Given the description of an element on the screen output the (x, y) to click on. 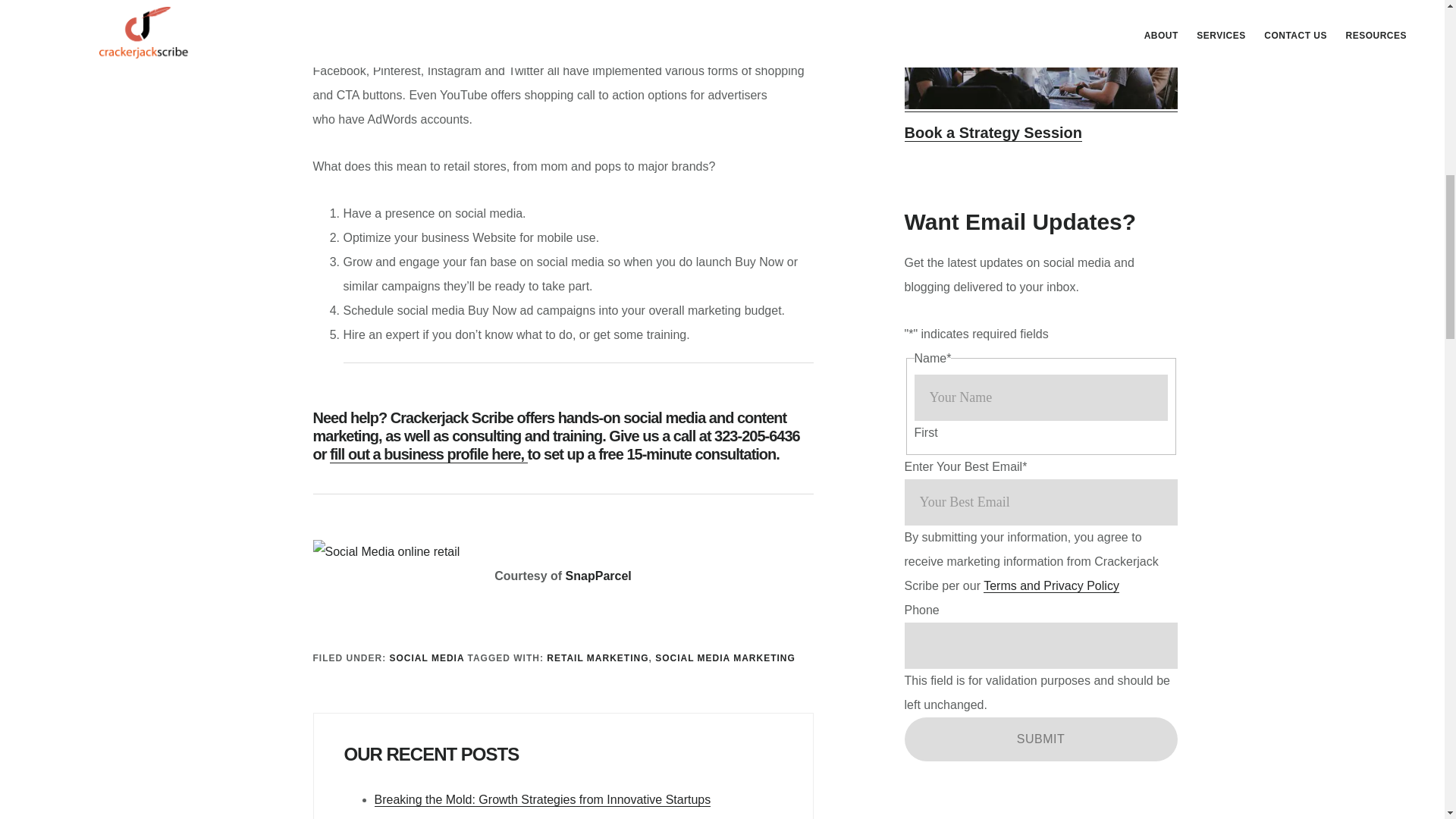
fill out a business profile here, (428, 454)
SnapParcel (369, 24)
SOCIAL MEDIA (427, 657)
RETAIL MARKETING (597, 657)
SnapParcel (598, 575)
Submit (1040, 739)
SOCIAL MEDIA MARKETING (724, 657)
